Given the description of an element on the screen output the (x, y) to click on. 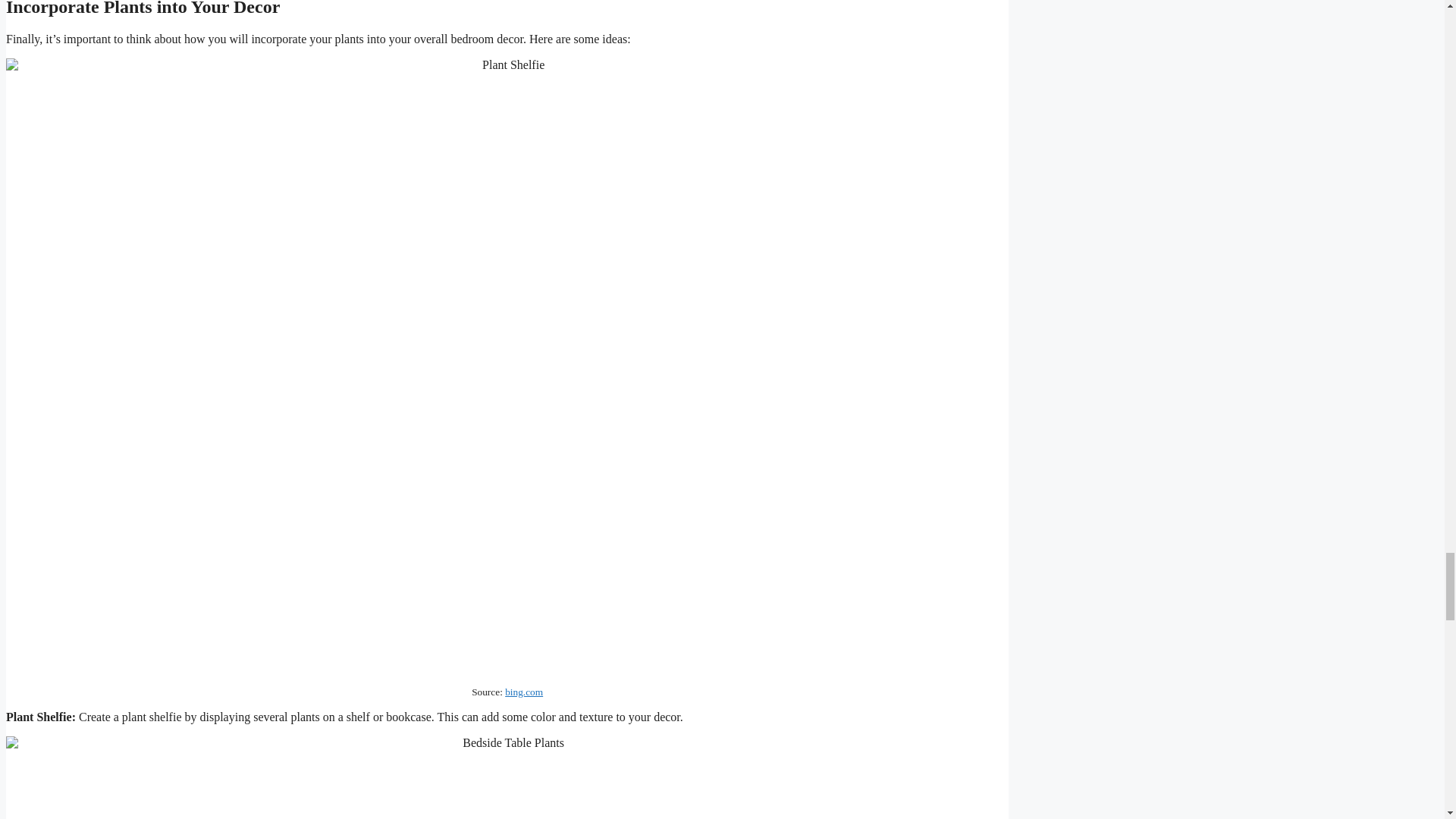
bing.com (524, 691)
